Given the description of an element on the screen output the (x, y) to click on. 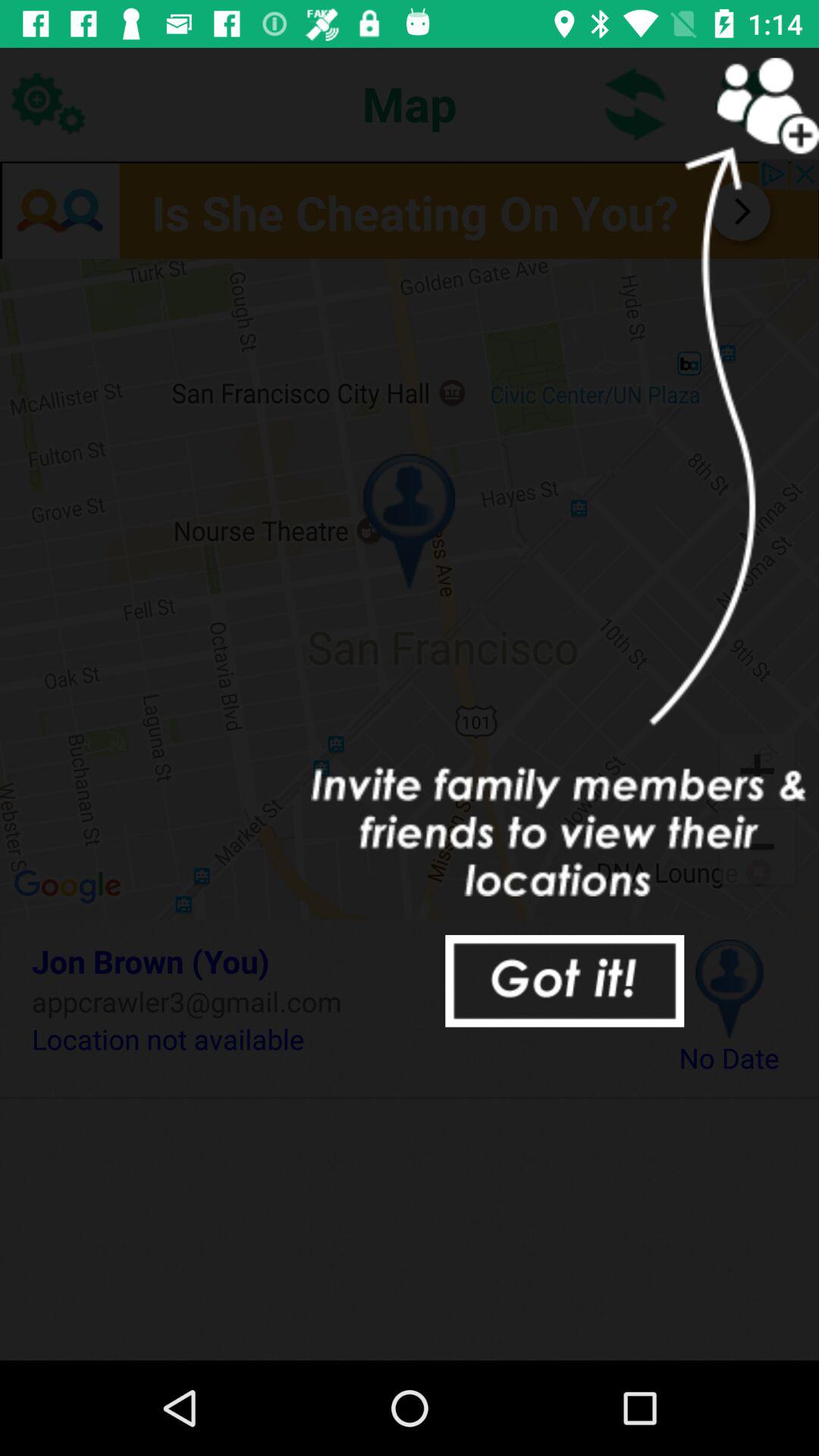
find out where she is now (409, 208)
